Given the description of an element on the screen output the (x, y) to click on. 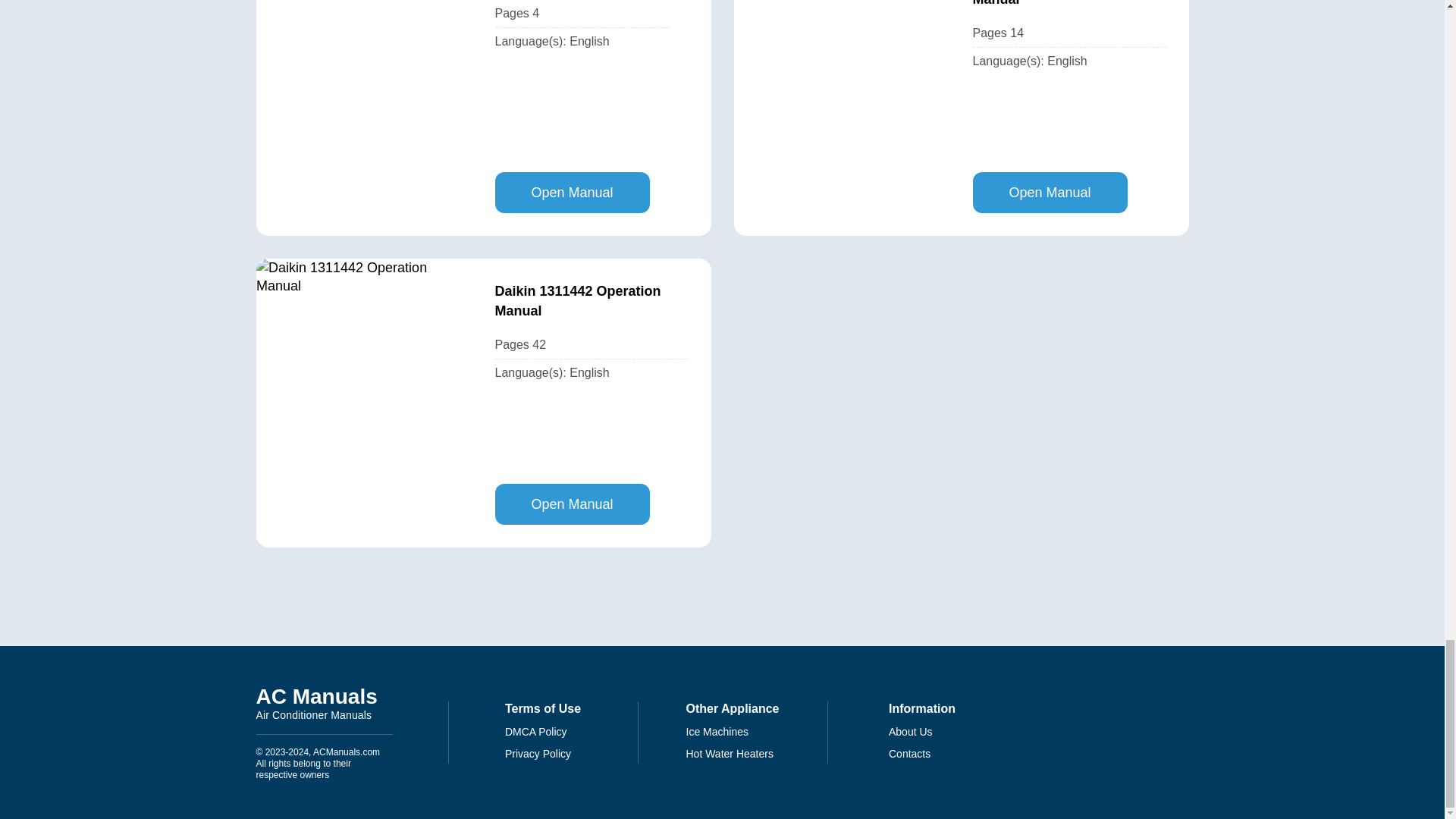
Open Manual (572, 504)
Open Manual (572, 191)
Daikin 1311442 Operation Manual (591, 301)
Daikin 1311442 Installation Manual (324, 702)
Open Manual (1069, 4)
